Given the description of an element on the screen output the (x, y) to click on. 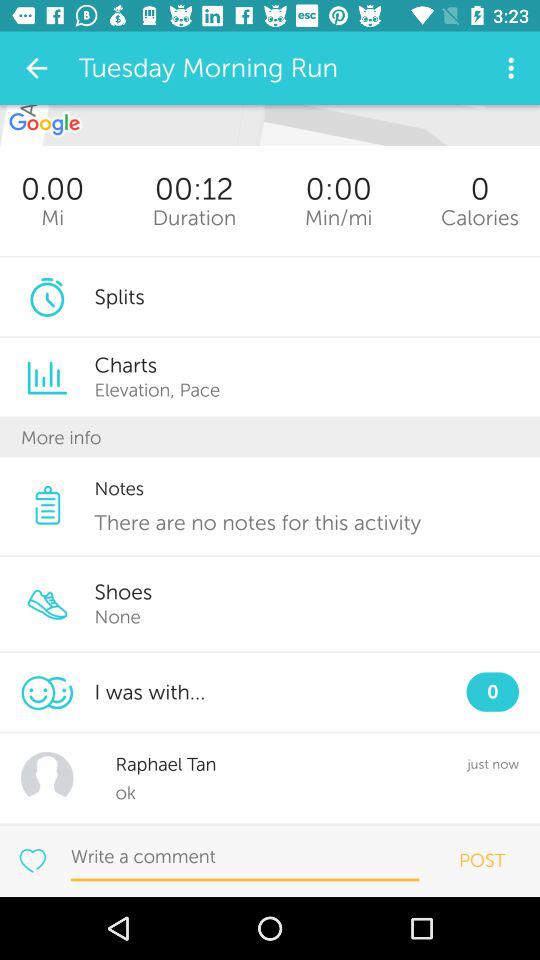
launch min/mi item (338, 217)
